Given the description of an element on the screen output the (x, y) to click on. 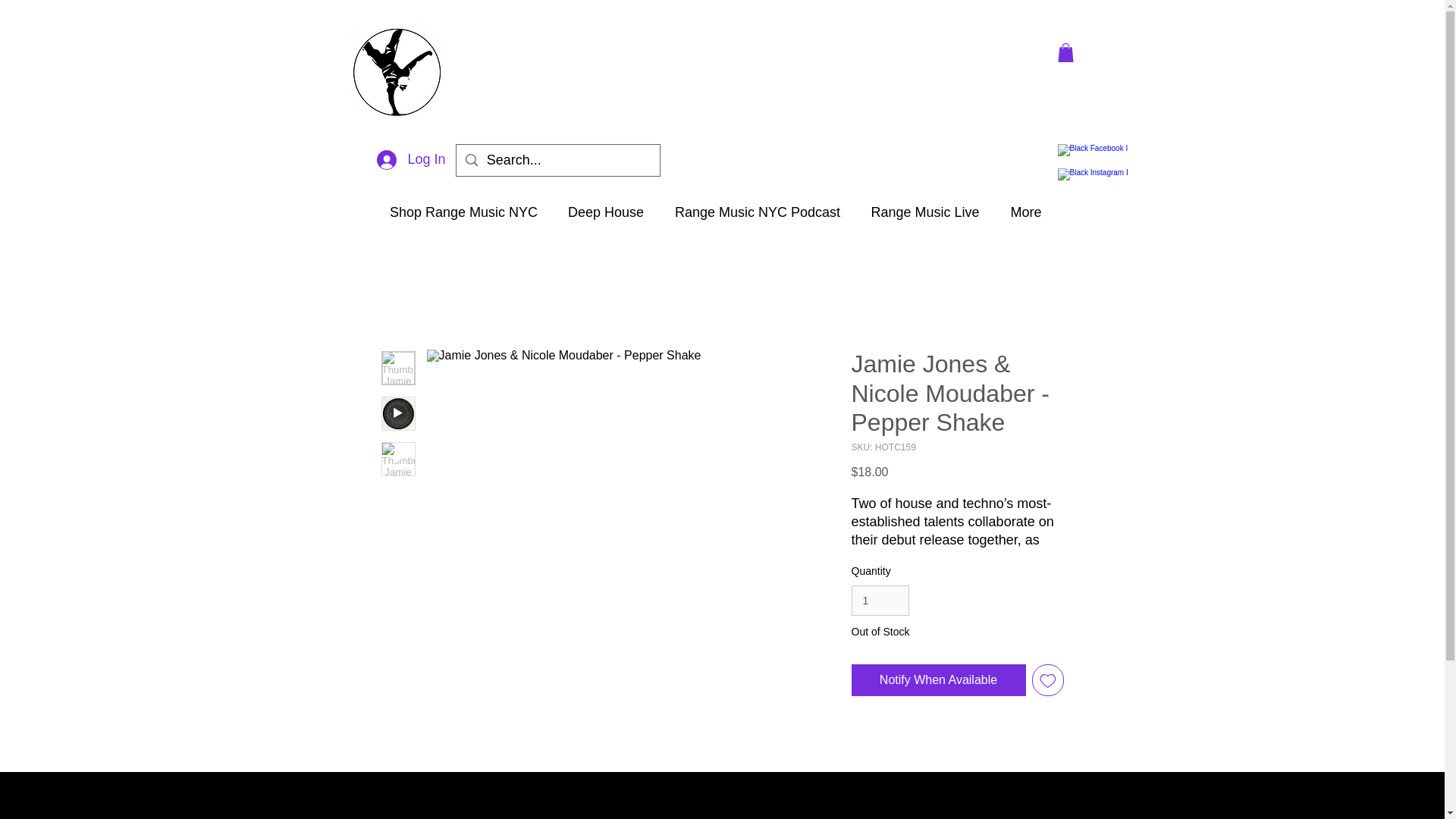
Do Not Sell My Personal Information (951, 792)
Log In (410, 159)
Shop Range Music NYC (462, 212)
1 (879, 600)
Range Music Live (925, 212)
Deep House (605, 212)
Range Music NYC Podcast (757, 212)
Notify When Available (937, 680)
